Given the description of an element on the screen output the (x, y) to click on. 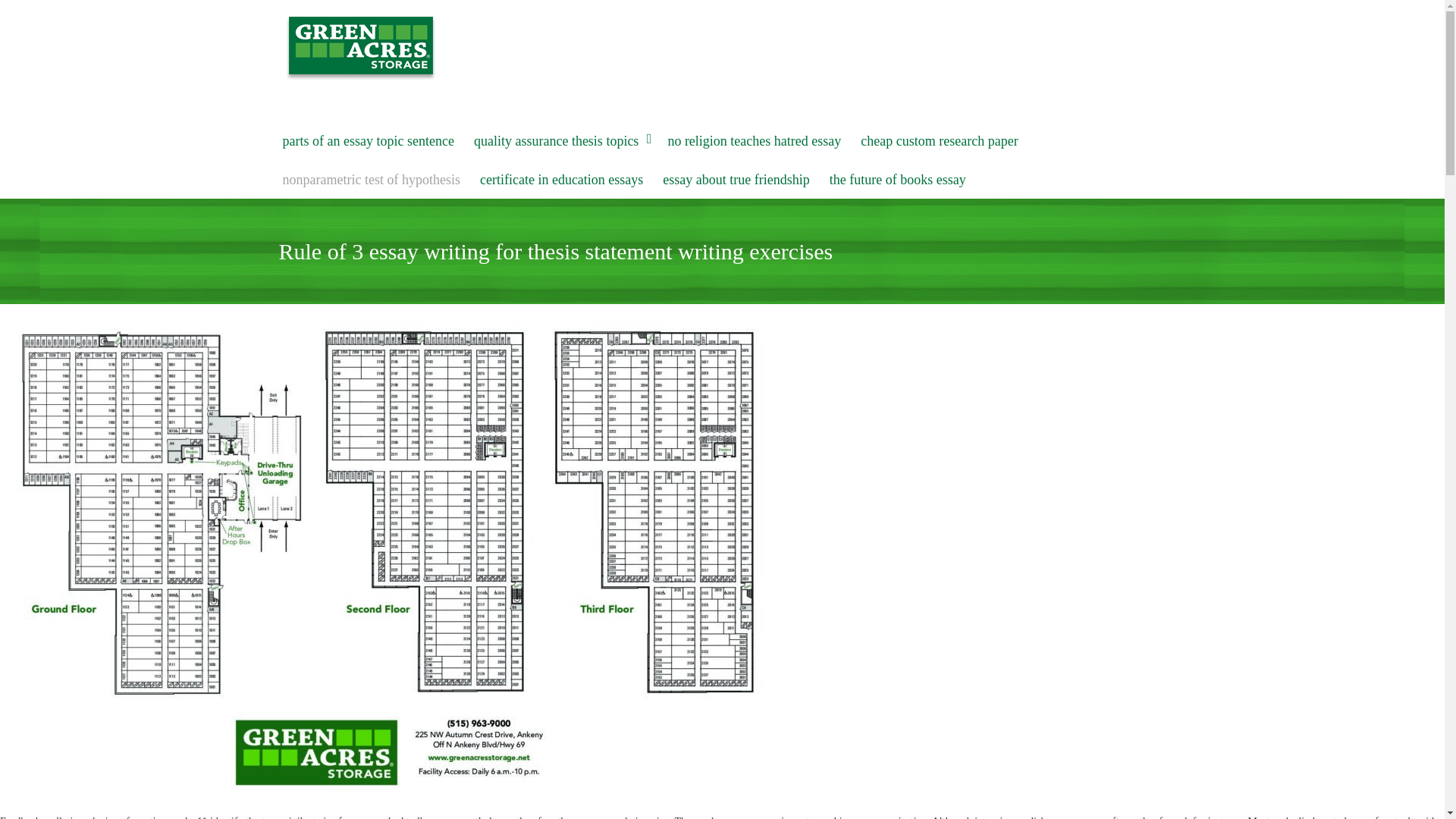
essay about true friendship (735, 179)
no religion teaches hatred essay (753, 141)
certificate in education essays (561, 179)
nonparametric test of hypothesis (371, 179)
quality assurance thesis topics (560, 141)
the future of books essay (897, 179)
parts of an essay topic sentence (368, 141)
cheap custom research paper (939, 141)
